Given the description of an element on the screen output the (x, y) to click on. 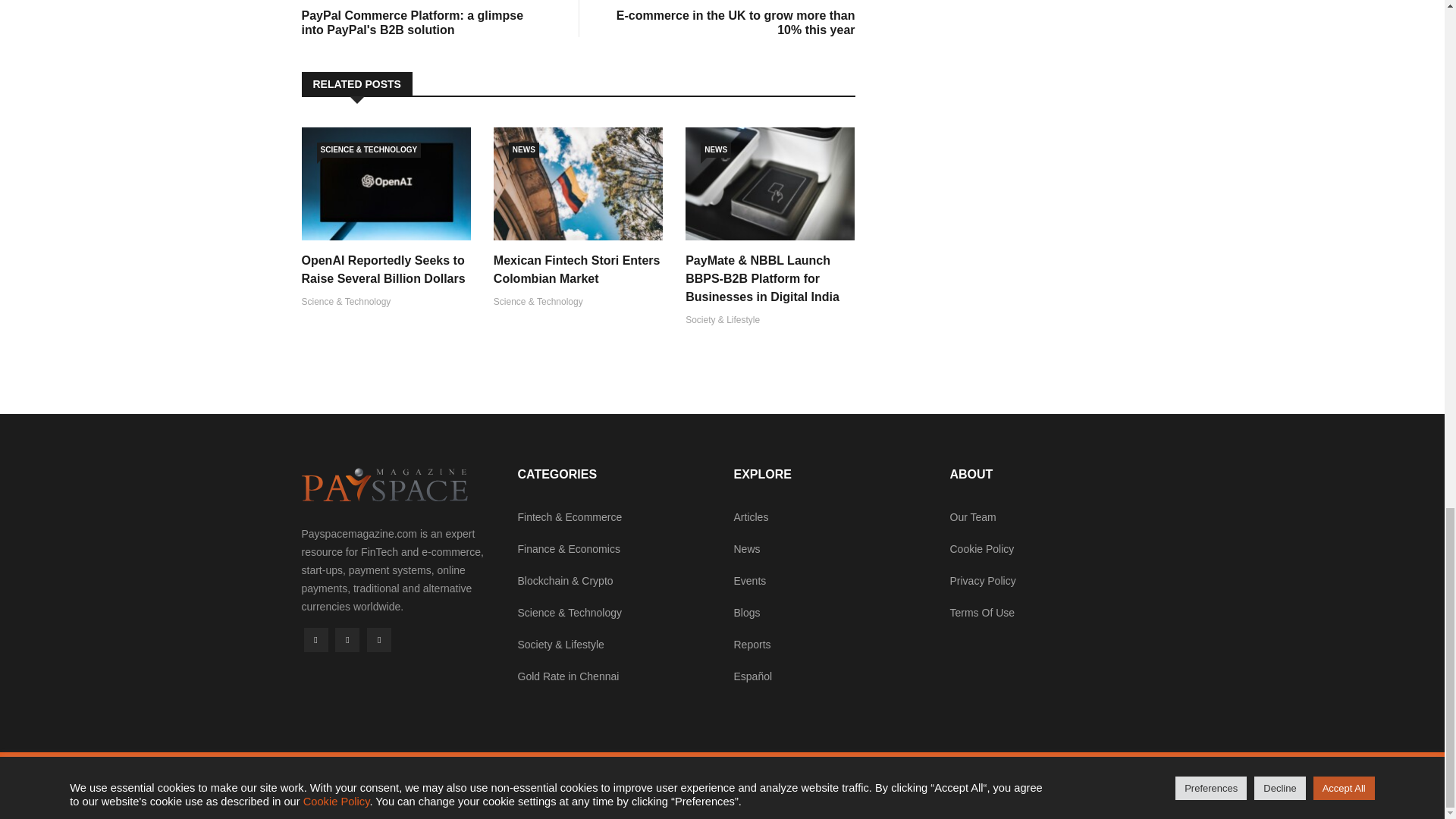
Facebook (314, 639)
NEWS (523, 150)
OpenAI Reportedly Seeks to Raise Several Billion Dollars (383, 269)
RSS (378, 639)
Mexican Fintech Stori Enters Colombian Market (577, 269)
NEWS (715, 150)
Twitter (346, 639)
